Given the description of an element on the screen output the (x, y) to click on. 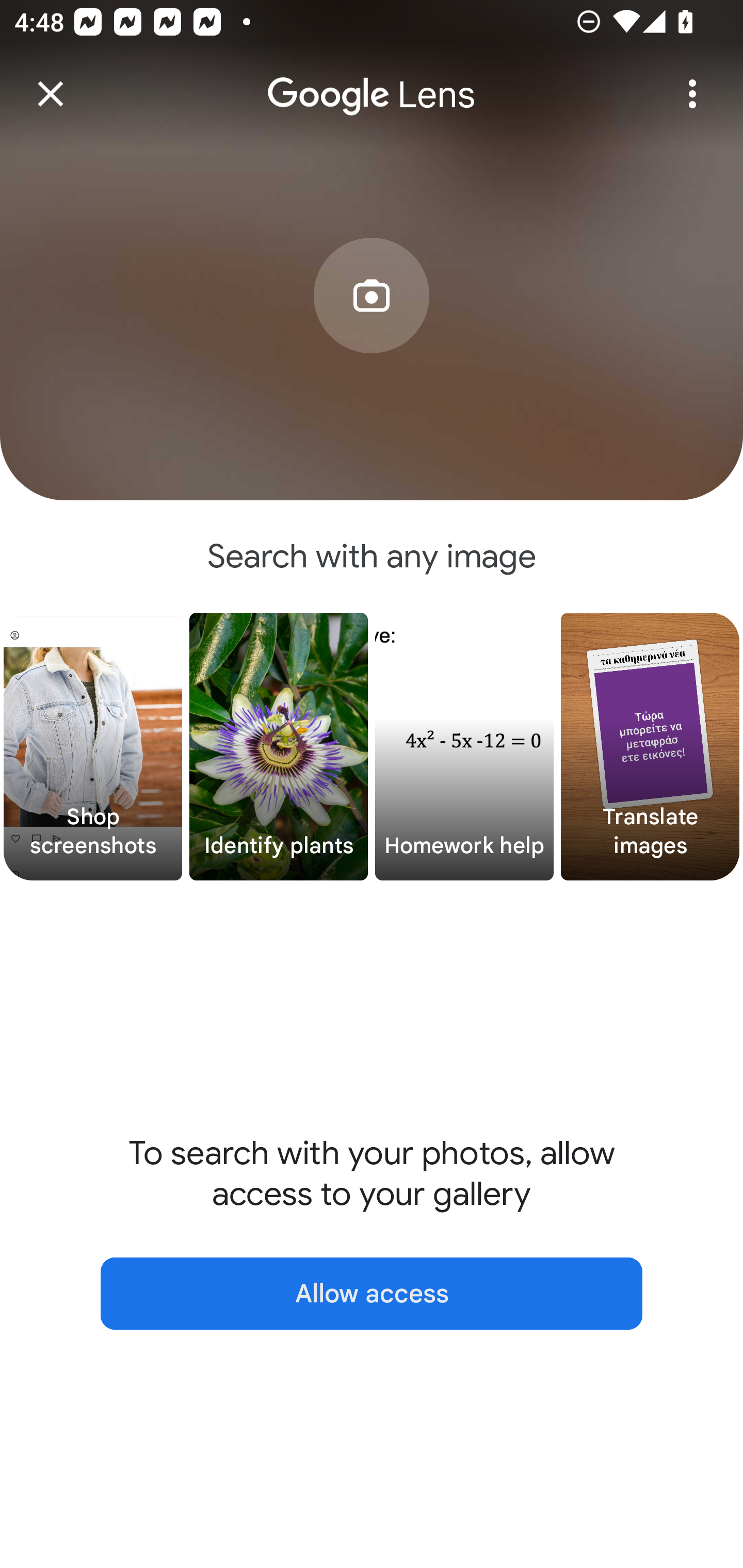
Google Lens Lens (371, 80)
Close (50, 94)
More options (692, 94)
Search with your camera (371, 326)
Shop screenshots (92, 747)
Identify plants (278, 747)
Homework help (464, 747)
Translate images (649, 747)
Allow access (371, 1293)
